Given the description of an element on the screen output the (x, y) to click on. 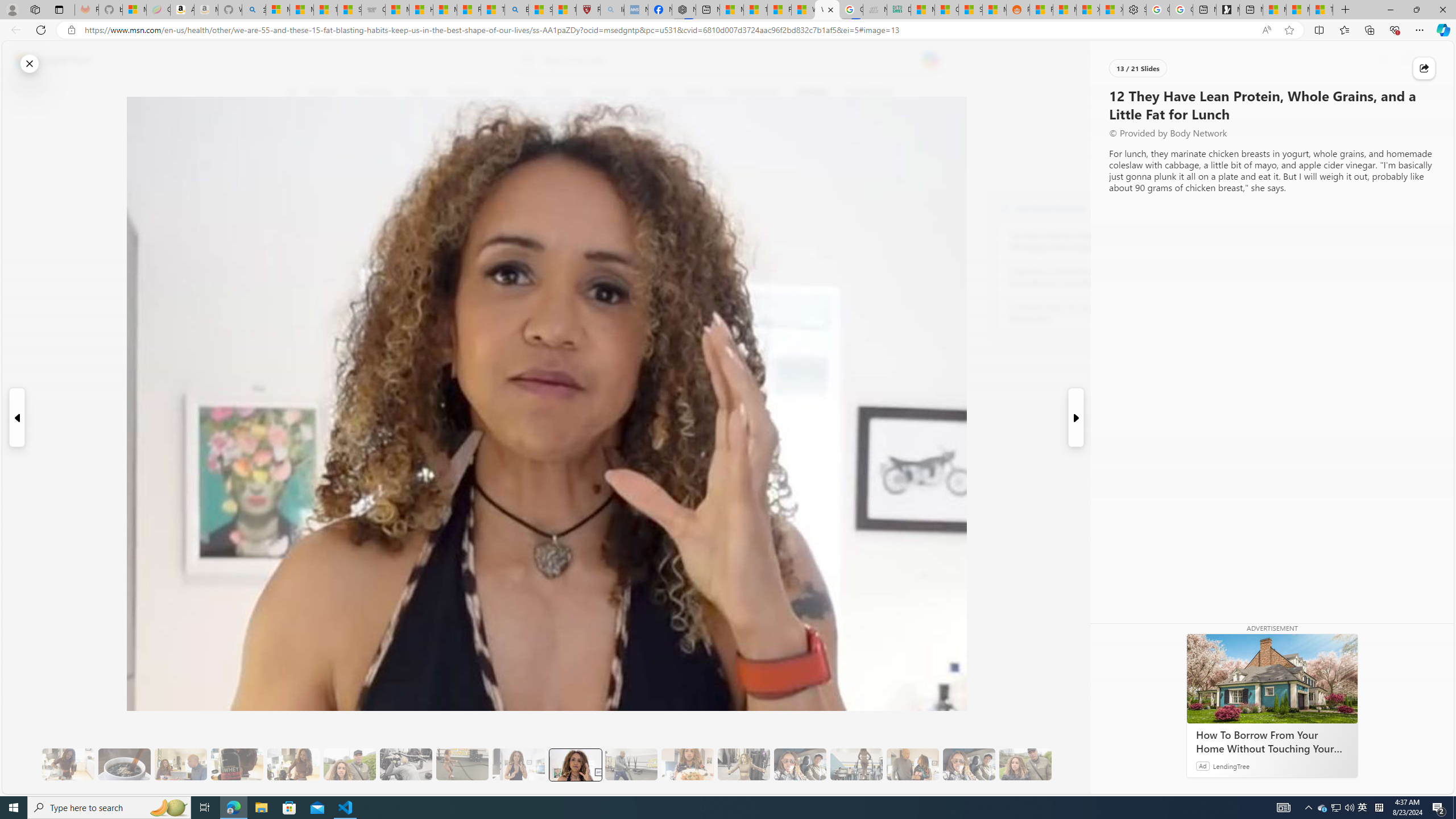
6 (299, 170)
list of asthma inhalers uk - Search - Sleeping (611, 9)
Skip to content (49, 59)
10 Then, They Do HIIT Cardio (462, 764)
Local (517, 92)
12 Popular Science Lies that Must be Corrected (563, 9)
Entertainment (753, 92)
MSN (993, 9)
Recipes - MSN (469, 9)
8 Reasons to Drink Kombucha, According to a Nutritionist (1071, 277)
14 Common Myths Debunked By Scientific Facts (754, 9)
8 They Walk to the Gym (349, 764)
